Given the description of an element on the screen output the (x, y) to click on. 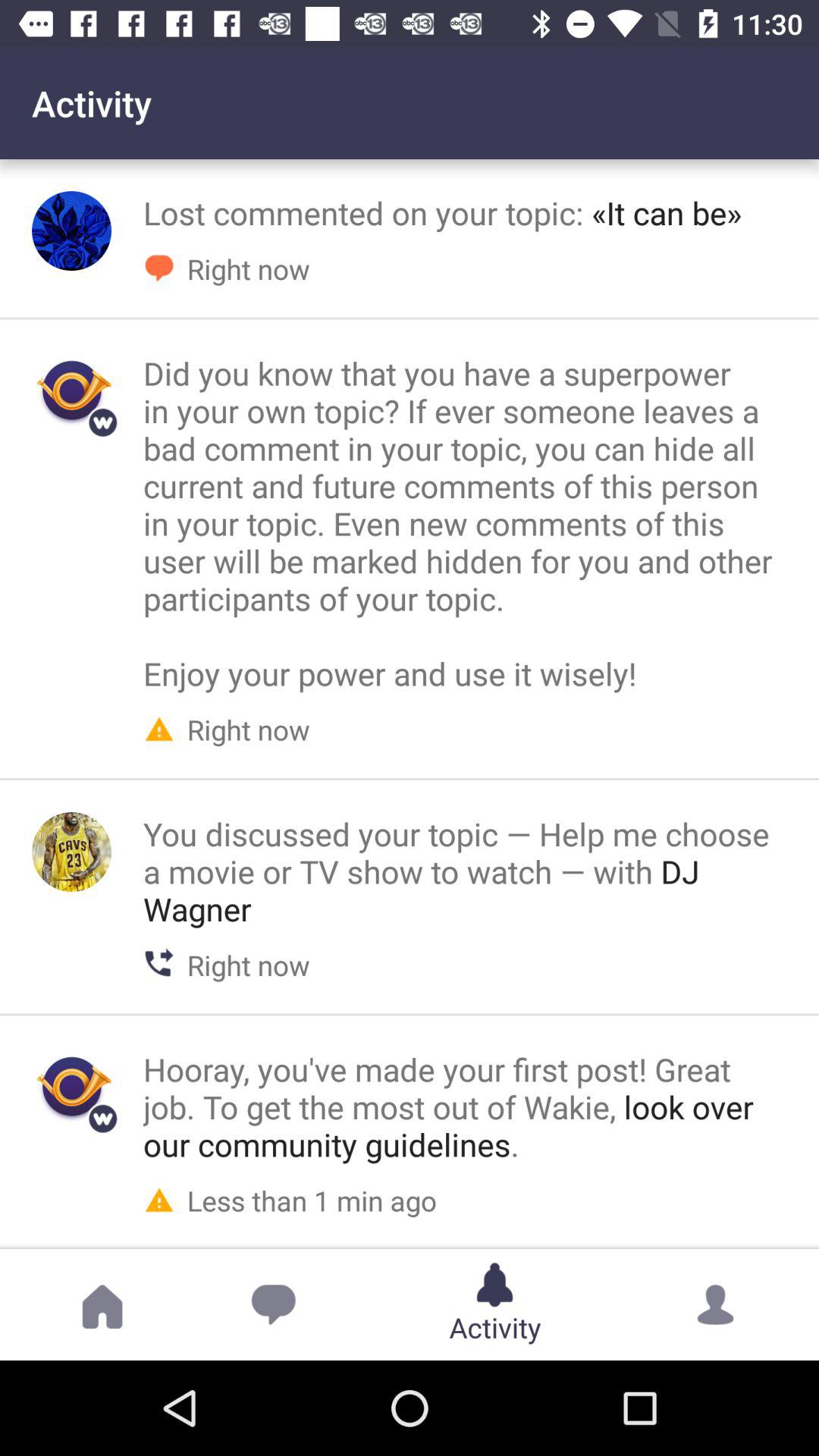
view profile (71, 851)
